Given the description of an element on the screen output the (x, y) to click on. 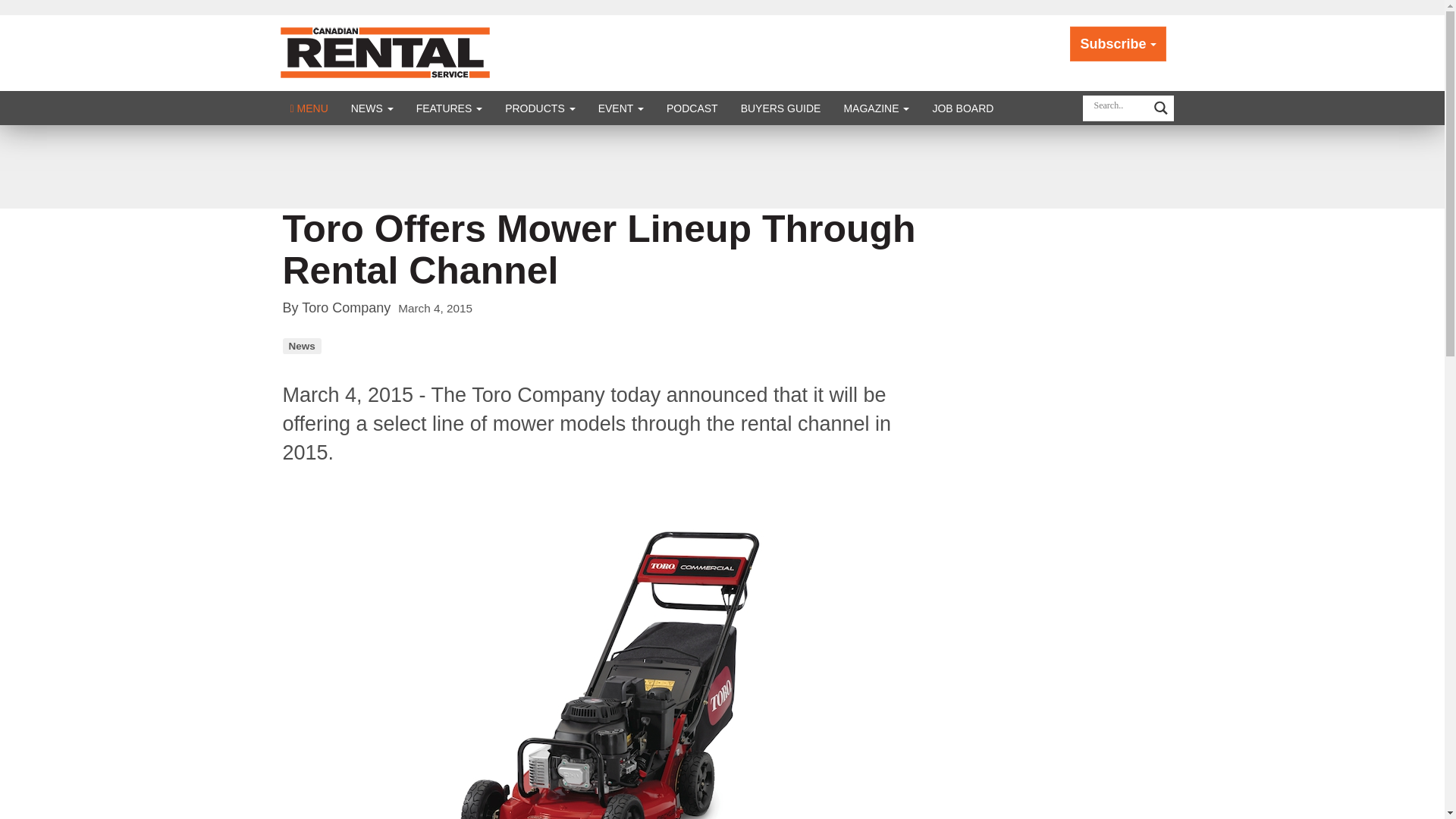
Click to show site navigation (309, 107)
PRODUCTS (539, 107)
NEWS (371, 107)
FEATURES (449, 107)
3rd party ad content (721, 166)
Canadian Rental Service (385, 52)
MENU (309, 107)
Subscribe (1118, 43)
EVENT (620, 107)
